Given the description of an element on the screen output the (x, y) to click on. 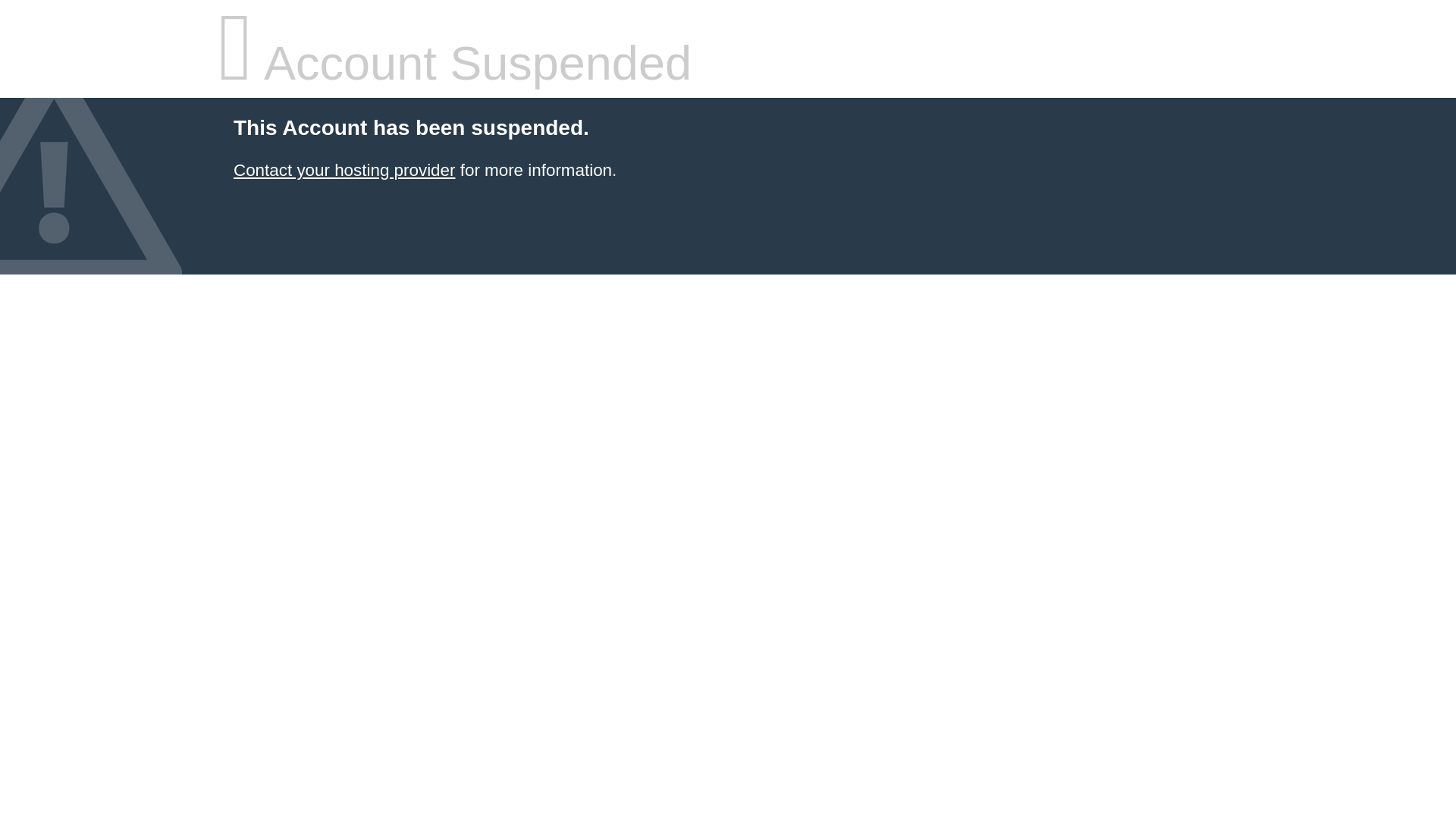
Contact your hosting provider (343, 169)
